Given the description of an element on the screen output the (x, y) to click on. 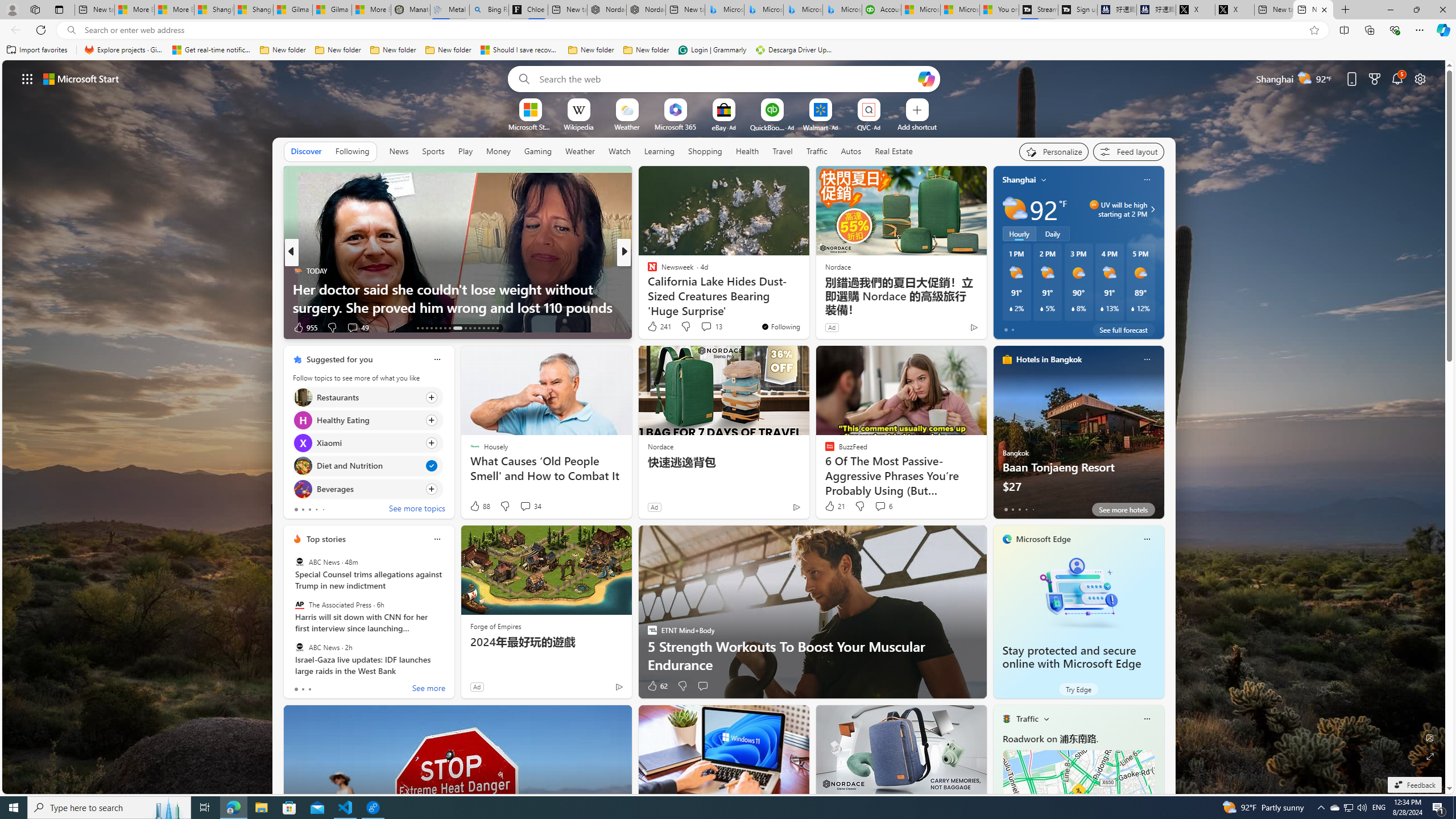
Diet and Nutrition (302, 466)
21 Like (834, 505)
Shanghai (1018, 179)
Edit Background (1430, 737)
Chloe Sorvino (528, 9)
Traffic Title Traffic Light (1005, 718)
Traffic (1027, 718)
Page settings (1420, 78)
Craft Your Happy Place (647, 288)
955 Like (304, 327)
